Given the description of an element on the screen output the (x, y) to click on. 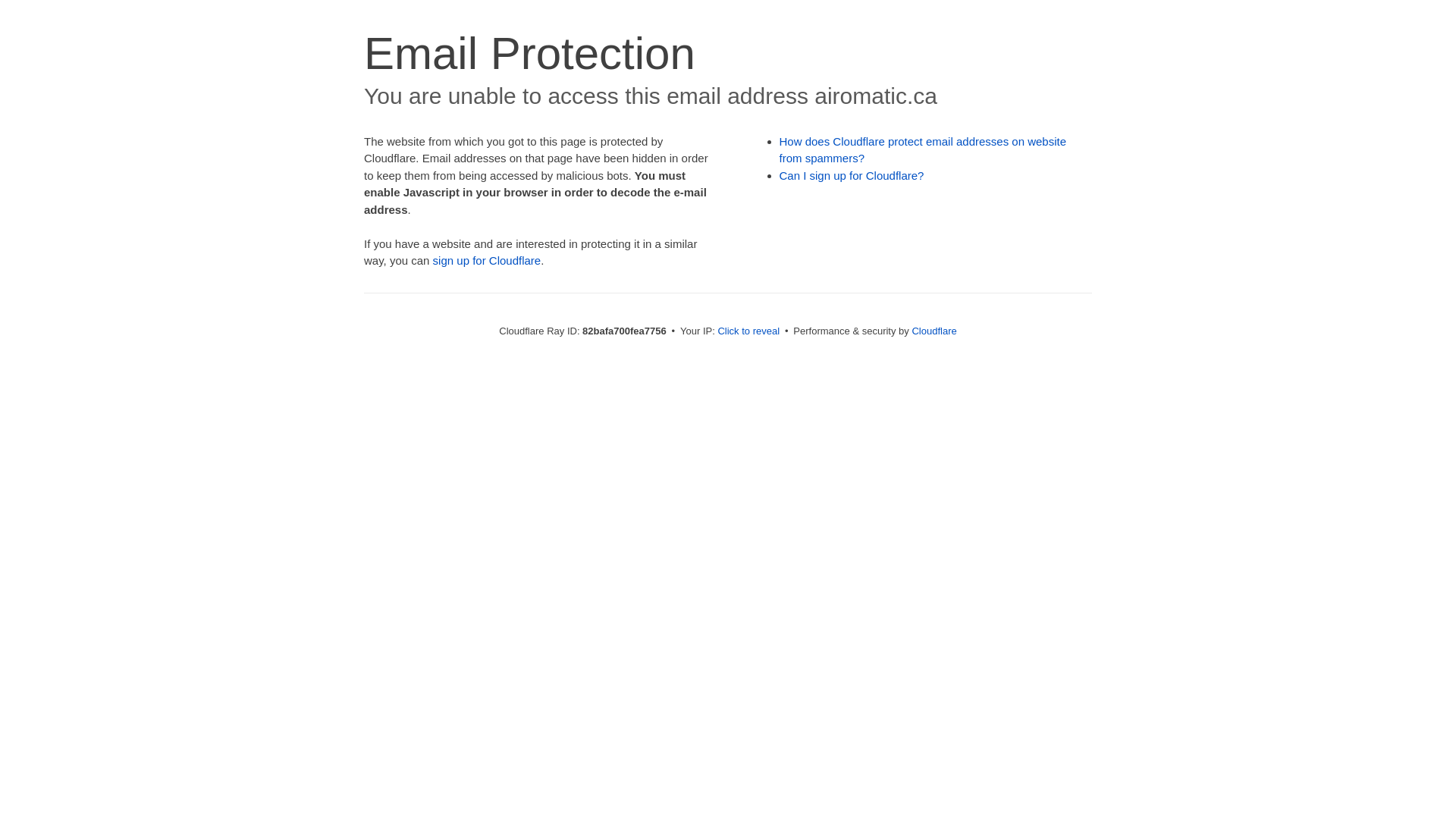
Can I sign up for Cloudflare? Element type: text (851, 175)
Click to reveal Element type: text (748, 330)
Cloudflare Element type: text (933, 330)
sign up for Cloudflare Element type: text (487, 260)
